Given the description of an element on the screen output the (x, y) to click on. 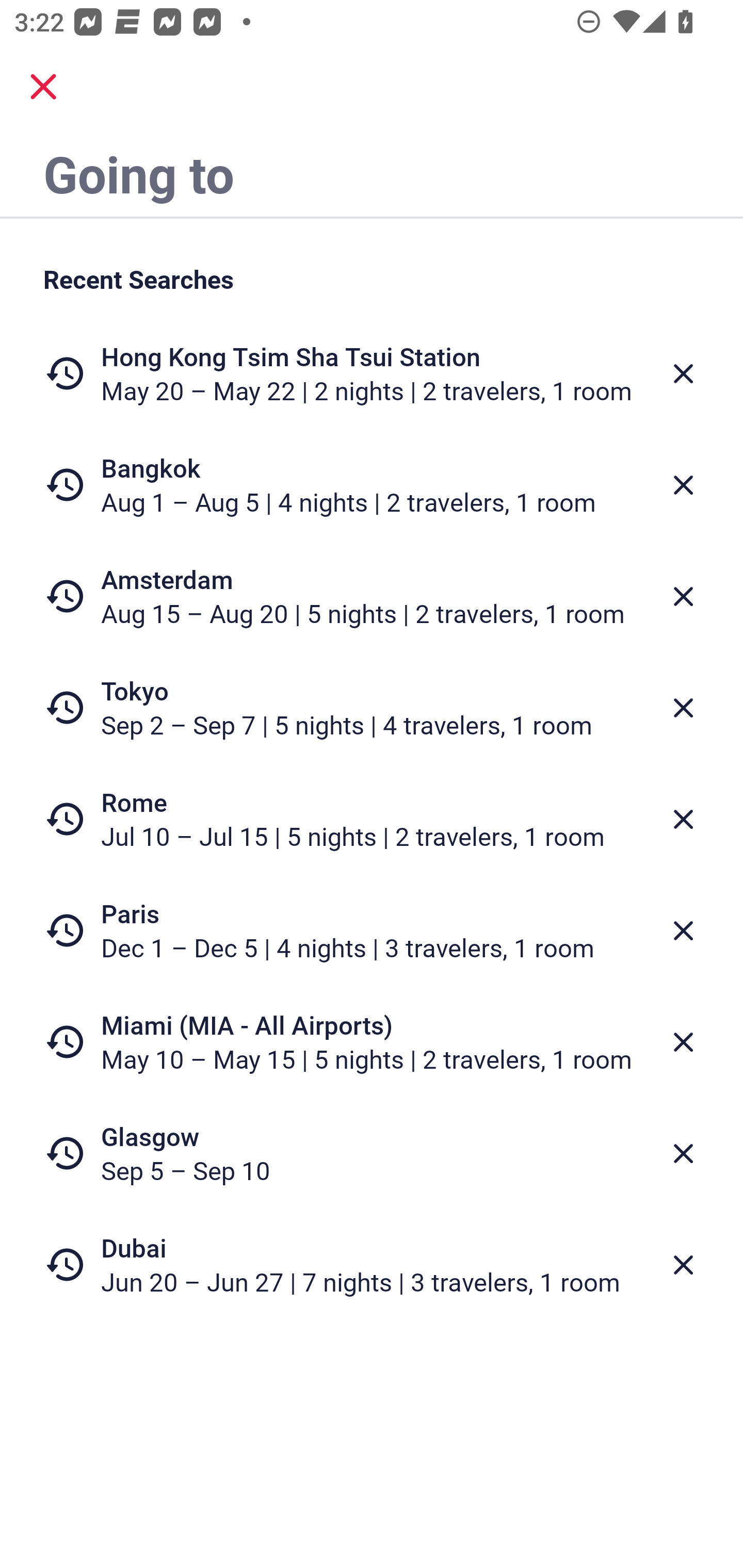
close. (43, 86)
Delete from recent searches (683, 373)
Delete from recent searches (683, 485)
Delete from recent searches (683, 596)
Delete from recent searches (683, 707)
Delete from recent searches (683, 819)
Delete from recent searches (683, 930)
Delete from recent searches (683, 1041)
Glasgow Sep 5 – Sep 10 (371, 1152)
Delete from recent searches (683, 1153)
Delete from recent searches (683, 1265)
